Given the description of an element on the screen output the (x, y) to click on. 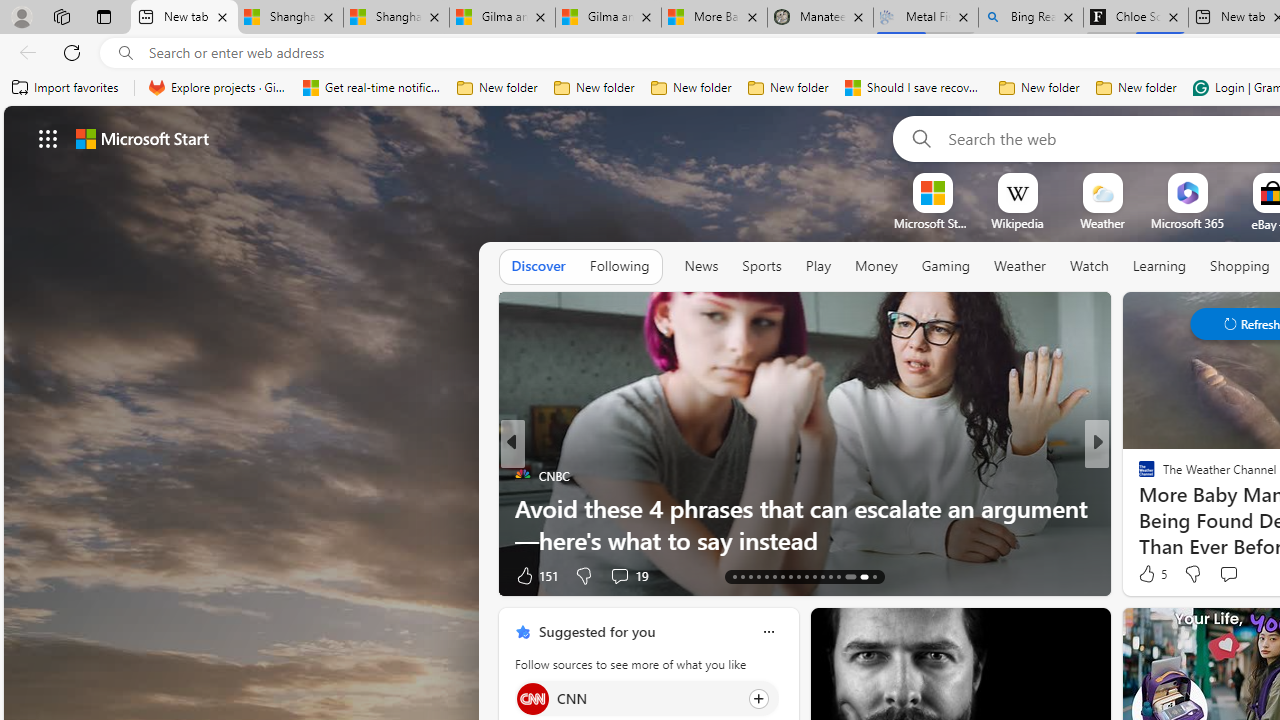
How to Survive (1138, 507)
App launcher (47, 138)
AutomationID: tab-15 (750, 576)
AutomationID: tab-42 (874, 576)
View comments 42 Comment (11, 575)
AutomationID: tab-17 (765, 576)
View comments 6 Comment (11, 575)
Search icon (125, 53)
View comments 19 Comment (619, 575)
News (701, 265)
Watch (1089, 267)
Shanghai, China weather forecast | Microsoft Weather (396, 17)
Chloe Sorvino (1135, 17)
Click to follow source CNN (646, 698)
